Given the description of an element on the screen output the (x, y) to click on. 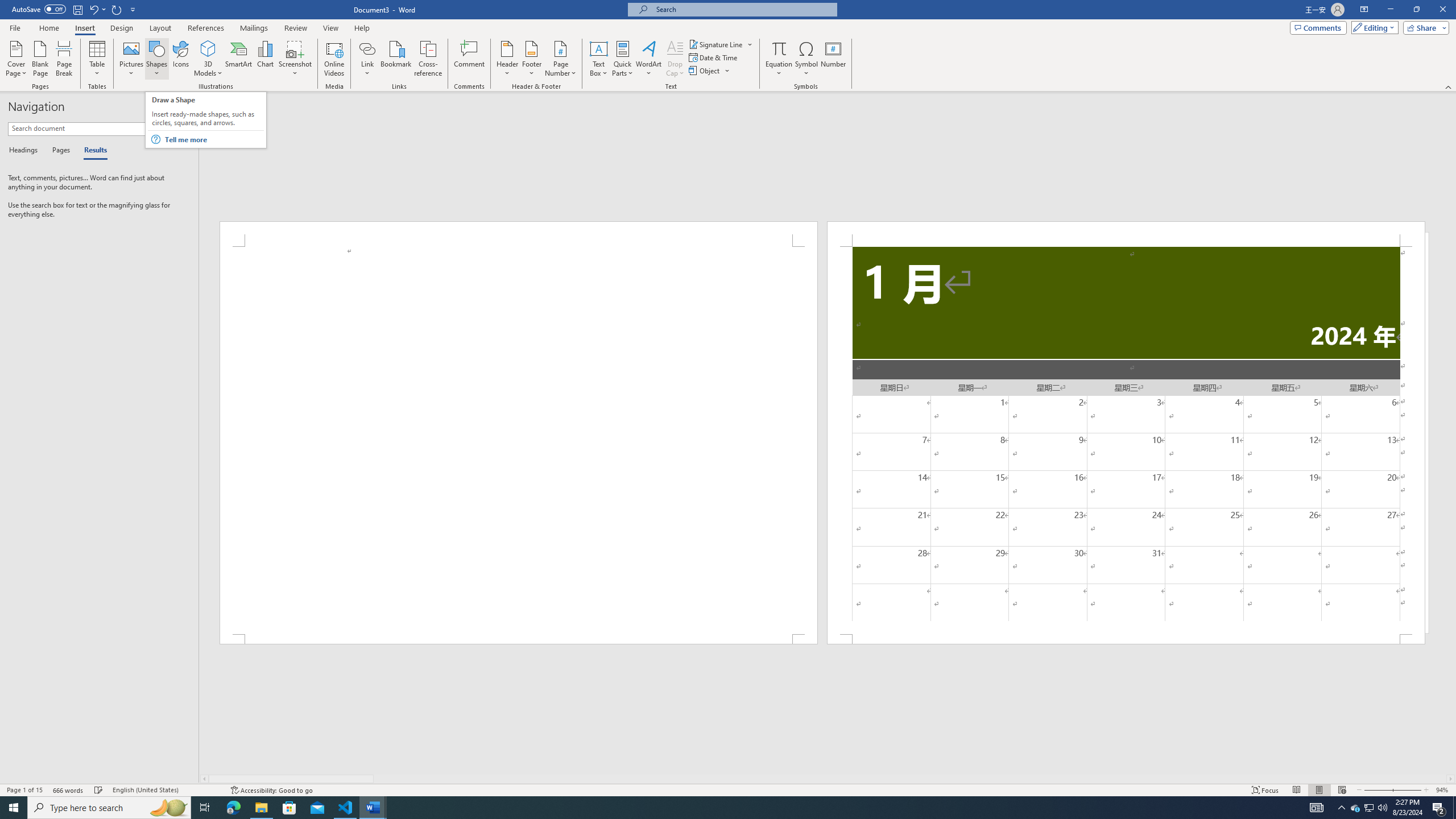
Drop Cap (674, 58)
Link (367, 58)
Shapes (156, 58)
Cross-reference... (428, 58)
